Given the description of an element on the screen output the (x, y) to click on. 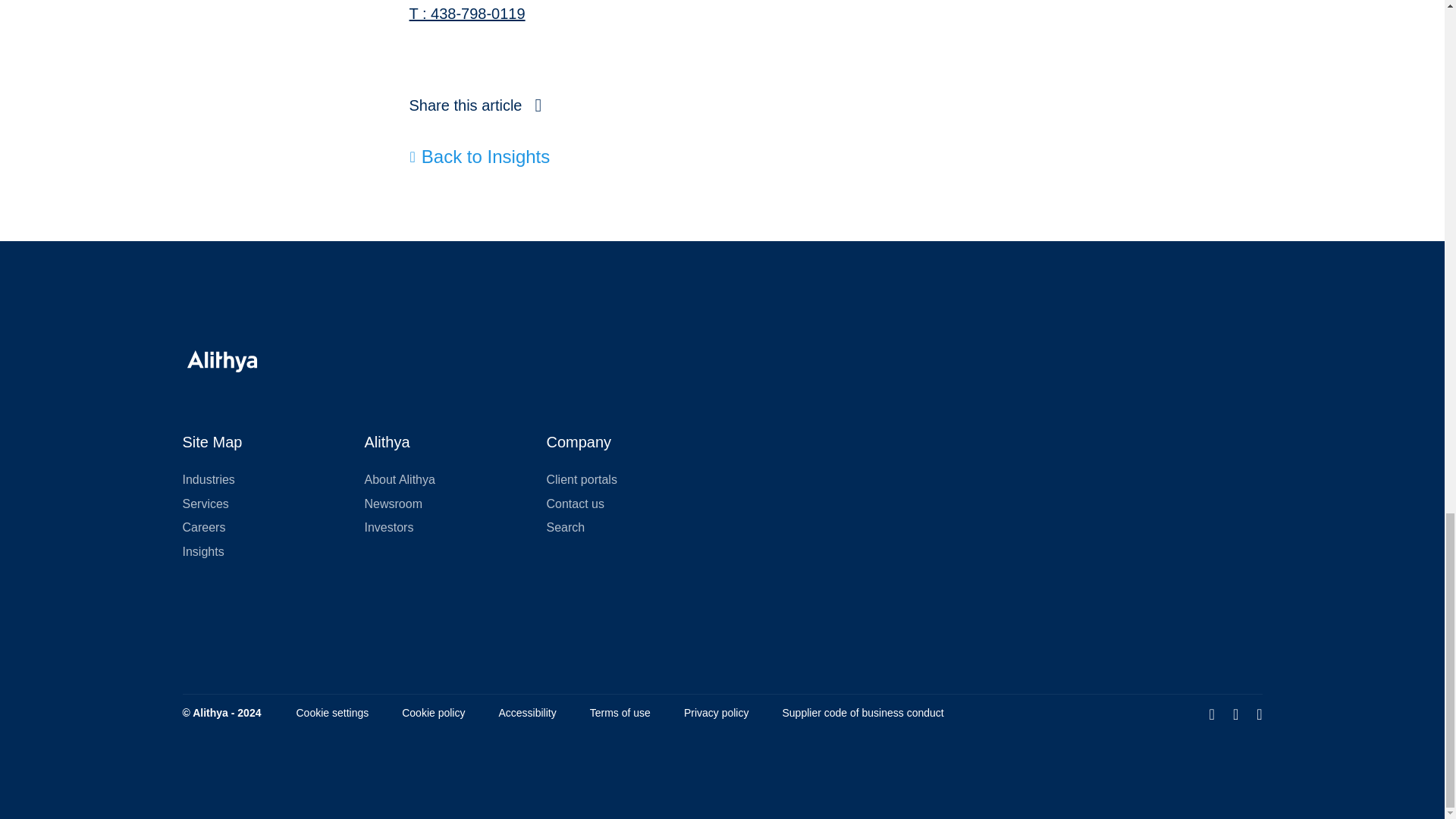
Newsroom (393, 503)
Toggle the cookie consent settings tray (331, 712)
Search (565, 526)
Back to Insights (480, 156)
